Given the description of an element on the screen output the (x, y) to click on. 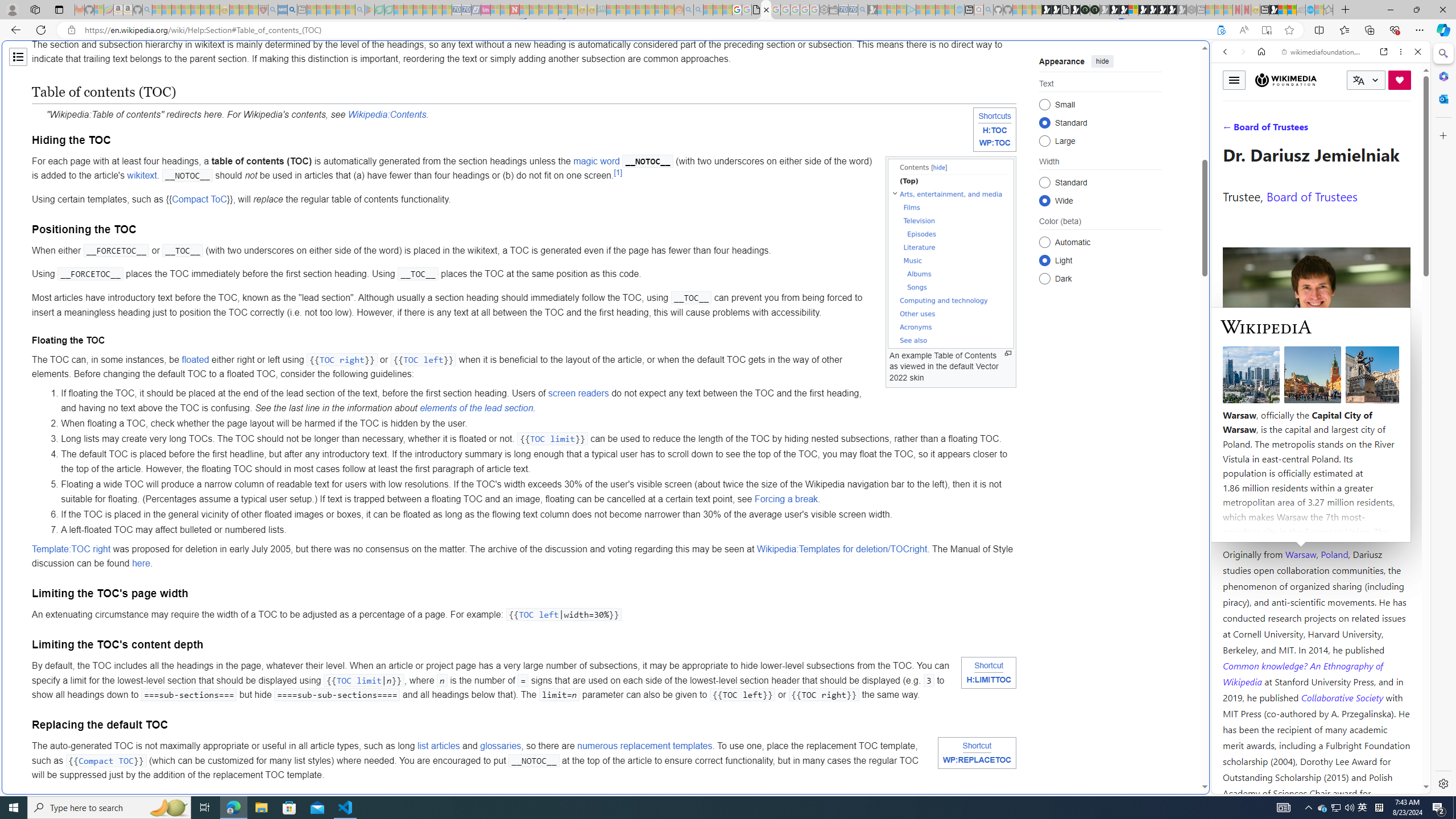
Shortcuts (994, 115)
Class: i icon icon-translate language-switcher__icon (1358, 80)
Utah sues federal government - Search - Sleeping (697, 9)
Wiktionary (1315, 380)
Poland (1334, 554)
wikitext (141, 175)
Tabs you've opened (885, 151)
This site scope (1259, 102)
TOC left (538, 614)
